Given the description of an element on the screen output the (x, y) to click on. 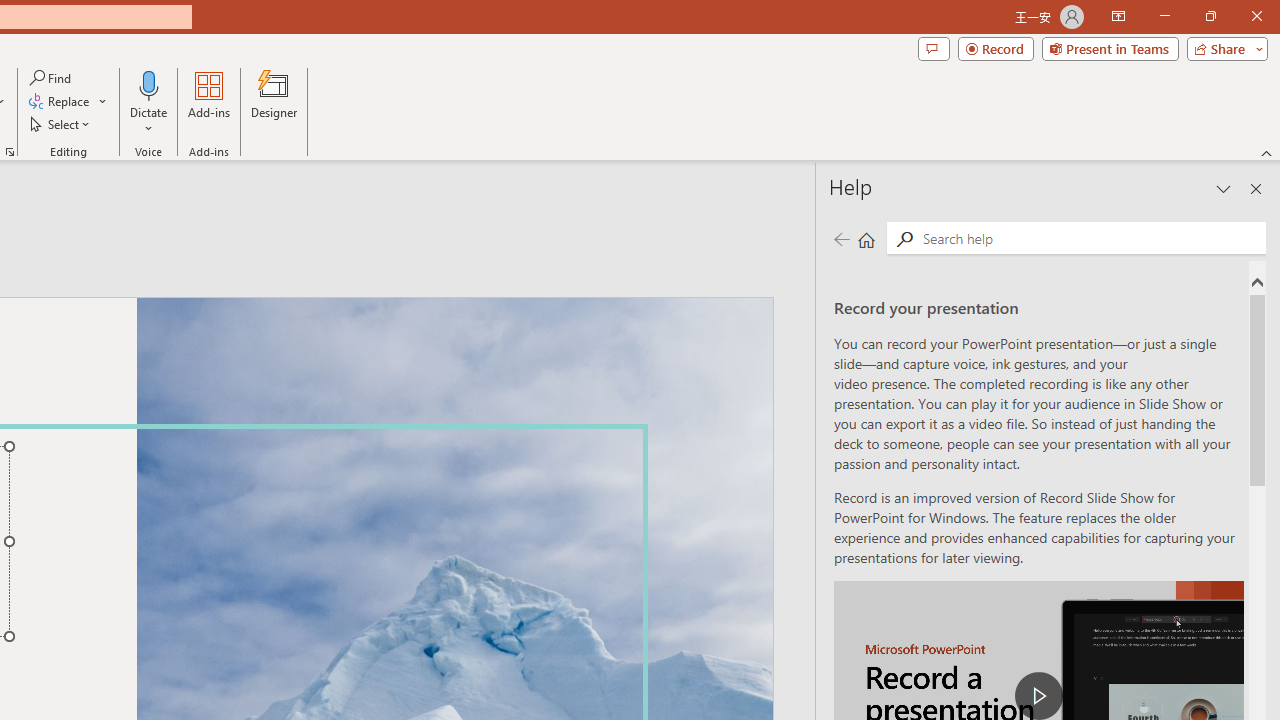
Search (1089, 237)
Collapse the Ribbon (1267, 152)
Search (904, 238)
More Options (149, 121)
play Record a Presentation (1038, 695)
Home (866, 238)
Close (1256, 16)
Restore Down (1210, 16)
Close pane (1256, 188)
Replace... (68, 101)
Format Object... (9, 151)
Comments (933, 48)
Share (1223, 48)
Dictate (149, 84)
